Given the description of an element on the screen output the (x, y) to click on. 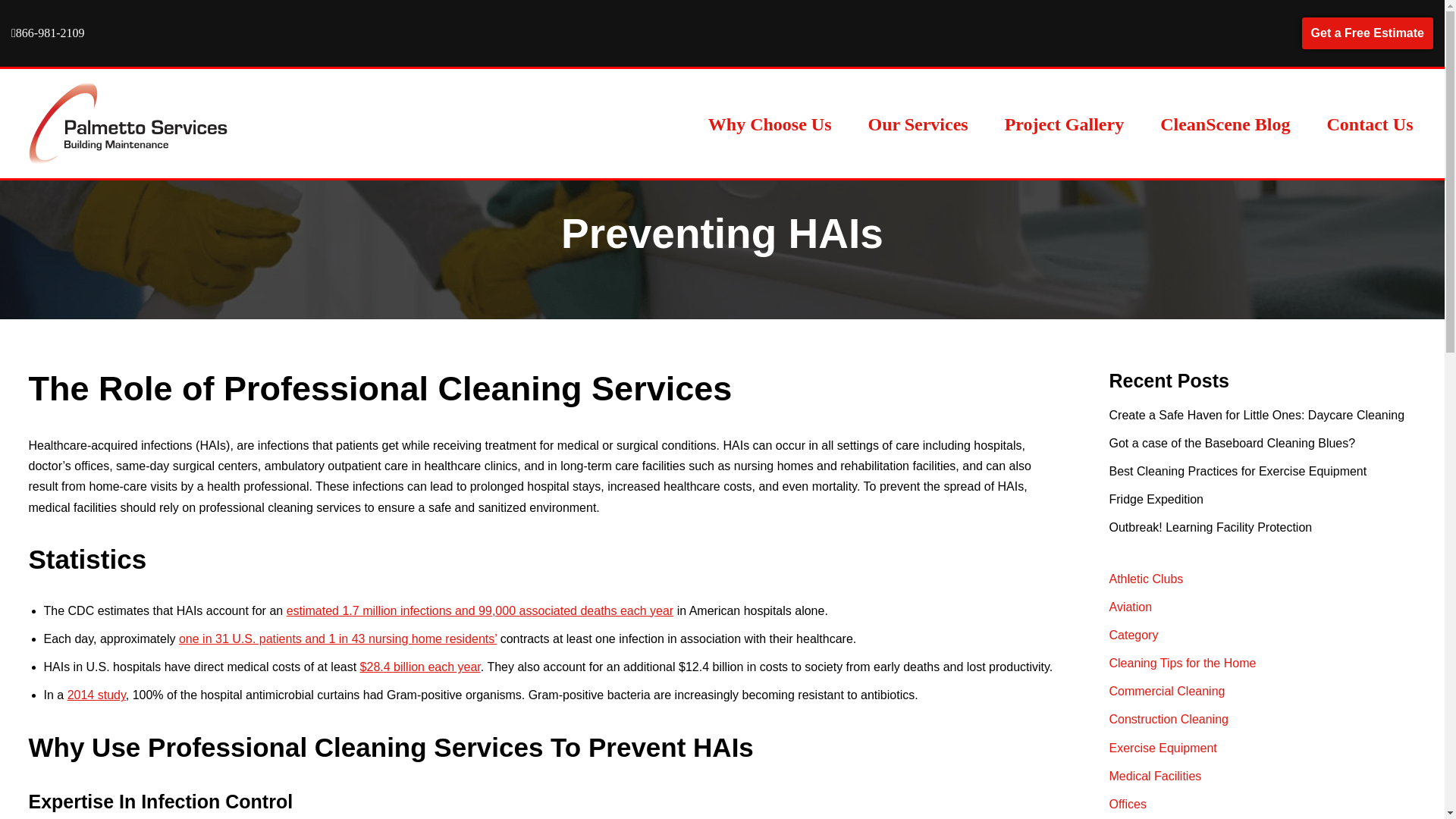
Construction Cleaning (1167, 718)
Got a case of the Baseboard Cleaning Blues? (1231, 442)
Our Services (917, 123)
Athletic Clubs (1145, 577)
Outbreak! Learning Facility Protection (1209, 526)
Best Cleaning Practices for Exercise Equipment (1237, 471)
Category (1132, 634)
Project Gallery (1064, 123)
Why Choose Us (769, 123)
